Given the description of an element on the screen output the (x, y) to click on. 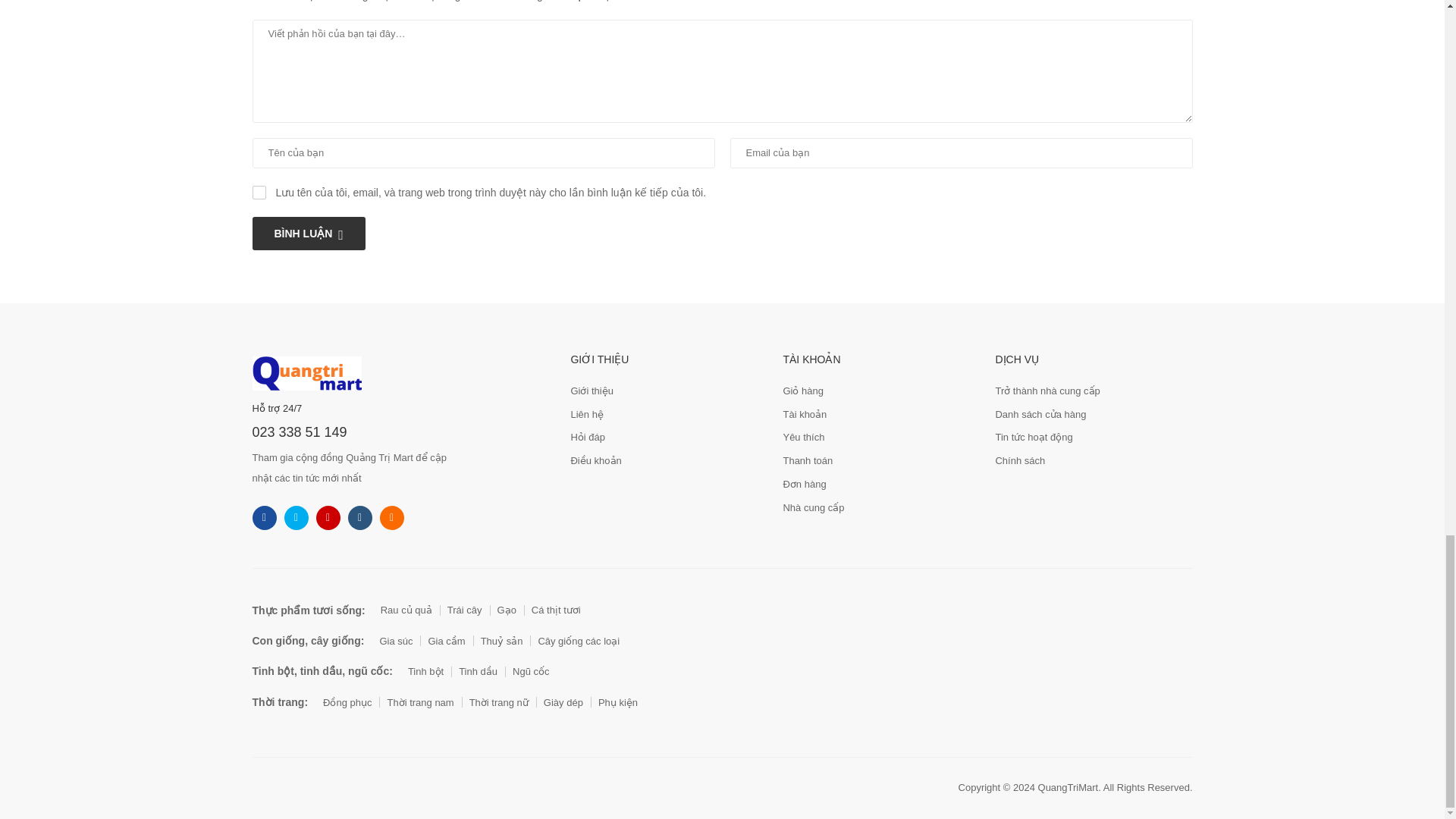
youtube (359, 517)
facebook (263, 517)
instagram (327, 517)
yes (257, 192)
twitter (295, 517)
pinterest (390, 517)
